Given the description of an element on the screen output the (x, y) to click on. 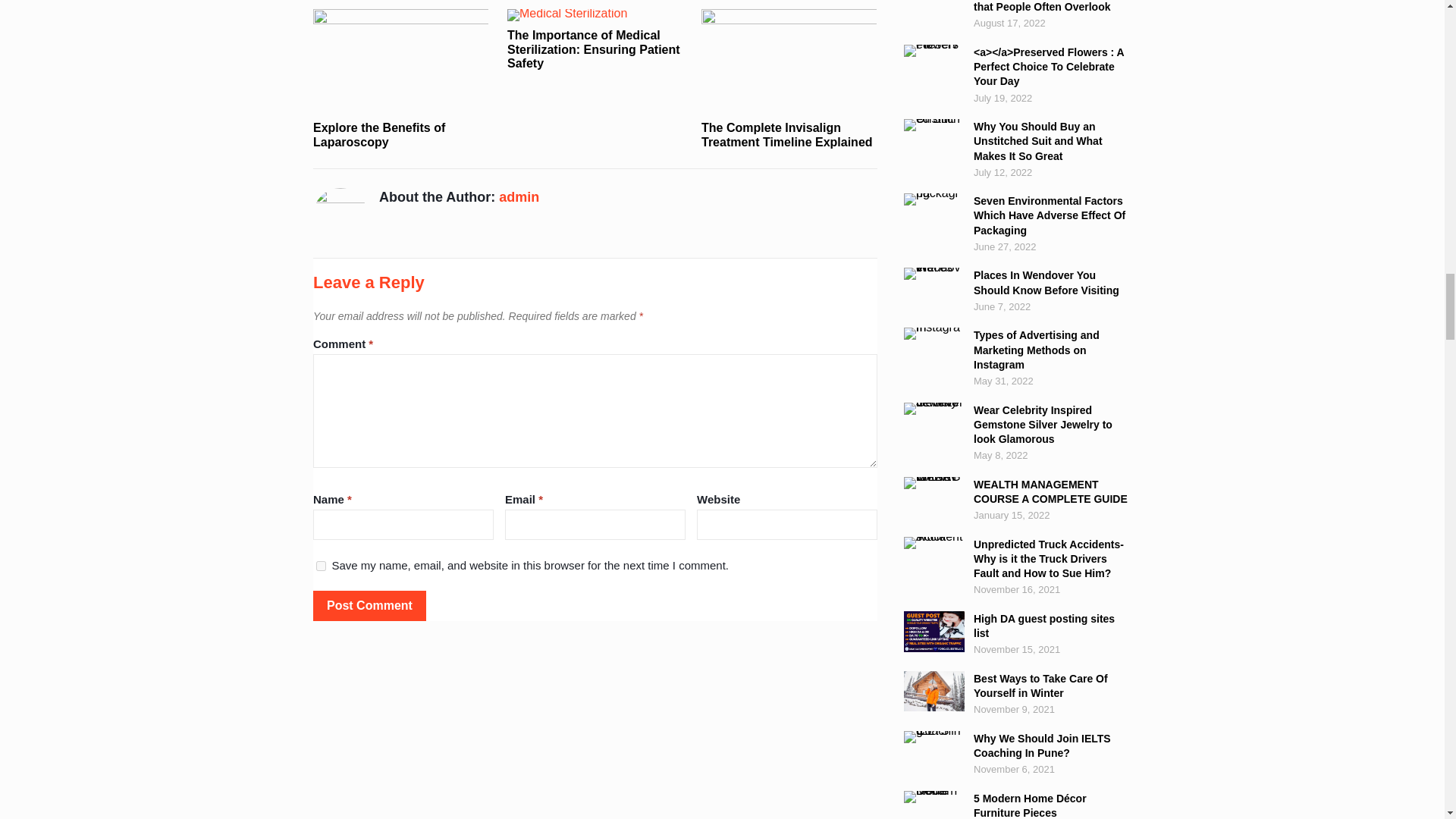
Post Comment (369, 605)
yes (320, 565)
